Given the description of an element on the screen output the (x, y) to click on. 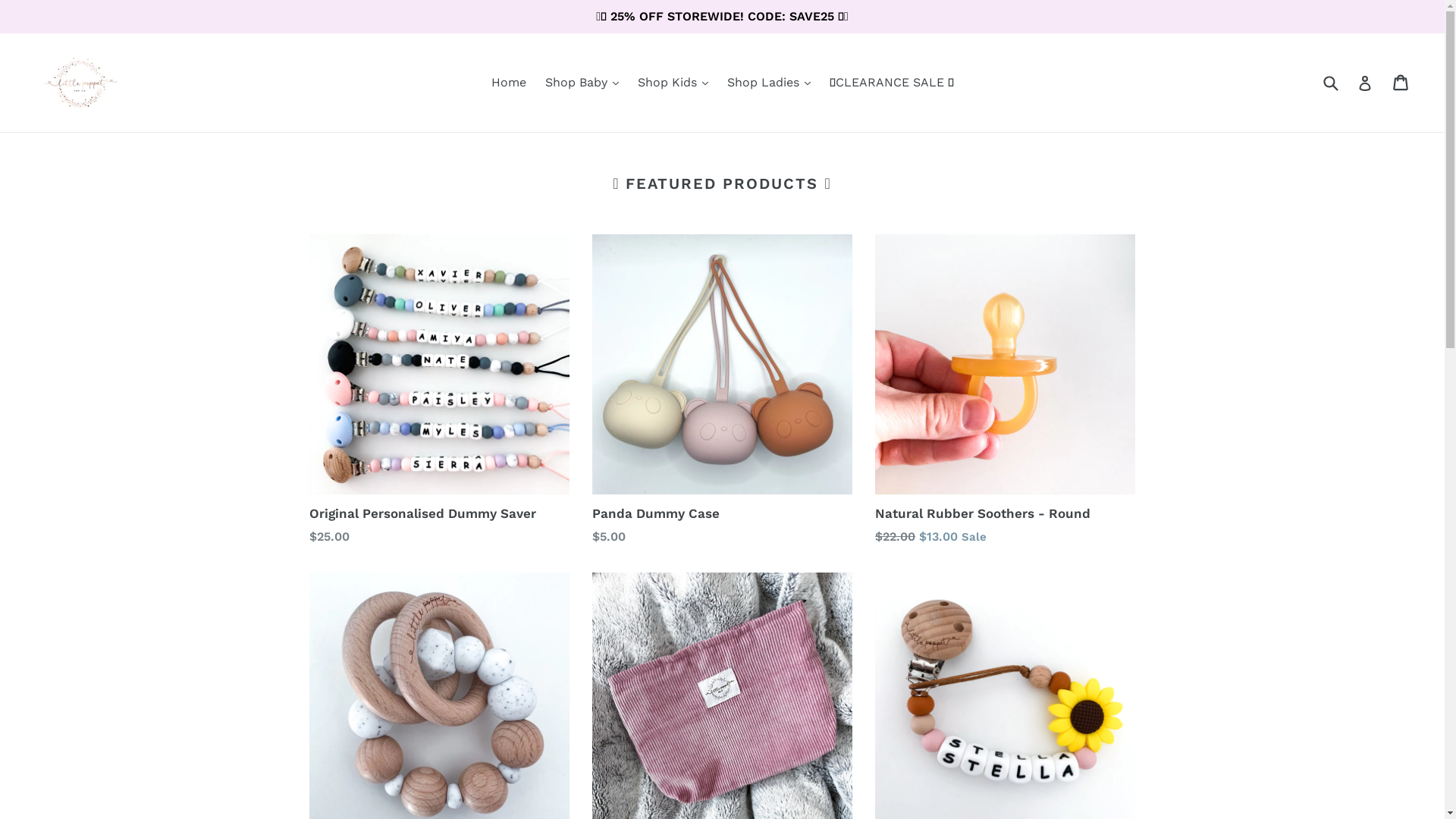
Original Personalised Dummy Saver
$25.00 Element type: text (439, 390)
Cart
Cart Element type: text (1401, 82)
Log in Element type: text (1364, 82)
Panda Dummy Case
Regular price
$5.00 Element type: text (722, 390)
Home Element type: text (508, 82)
Submit Element type: text (1329, 81)
